Given the description of an element on the screen output the (x, y) to click on. 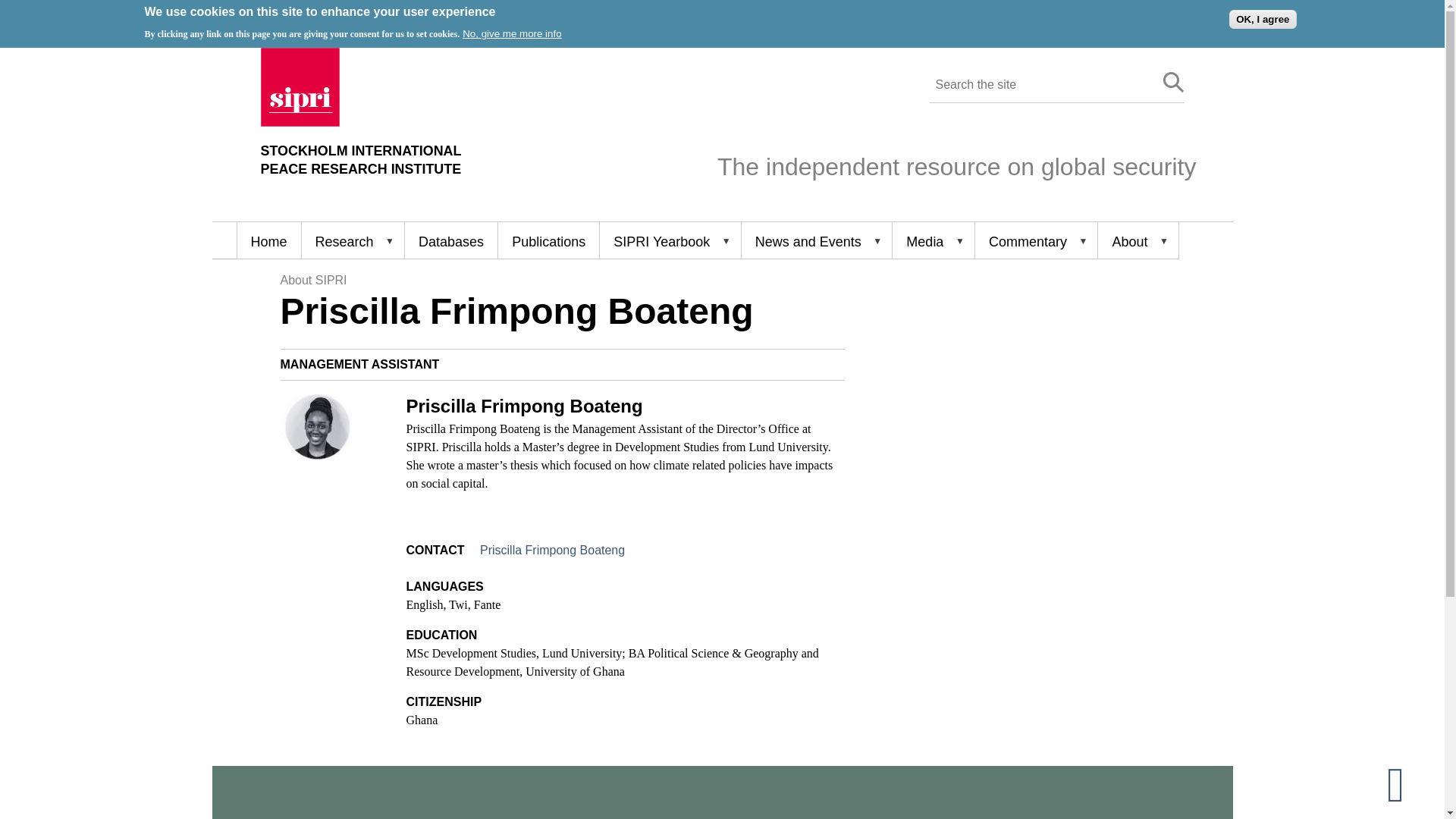
No, give me more info (511, 33)
Recent and upcoming news and events (816, 240)
Databases (450, 240)
Home (360, 159)
Home (299, 122)
Search (1174, 82)
Enter the terms you wish to search for. (1039, 84)
SIPRI's databases (450, 240)
Click to return to the top of the page (360, 159)
Search (1408, 782)
Publications (1174, 82)
OK, I agree (547, 240)
Home (1261, 18)
Skip to main content (267, 240)
